Given the description of an element on the screen output the (x, y) to click on. 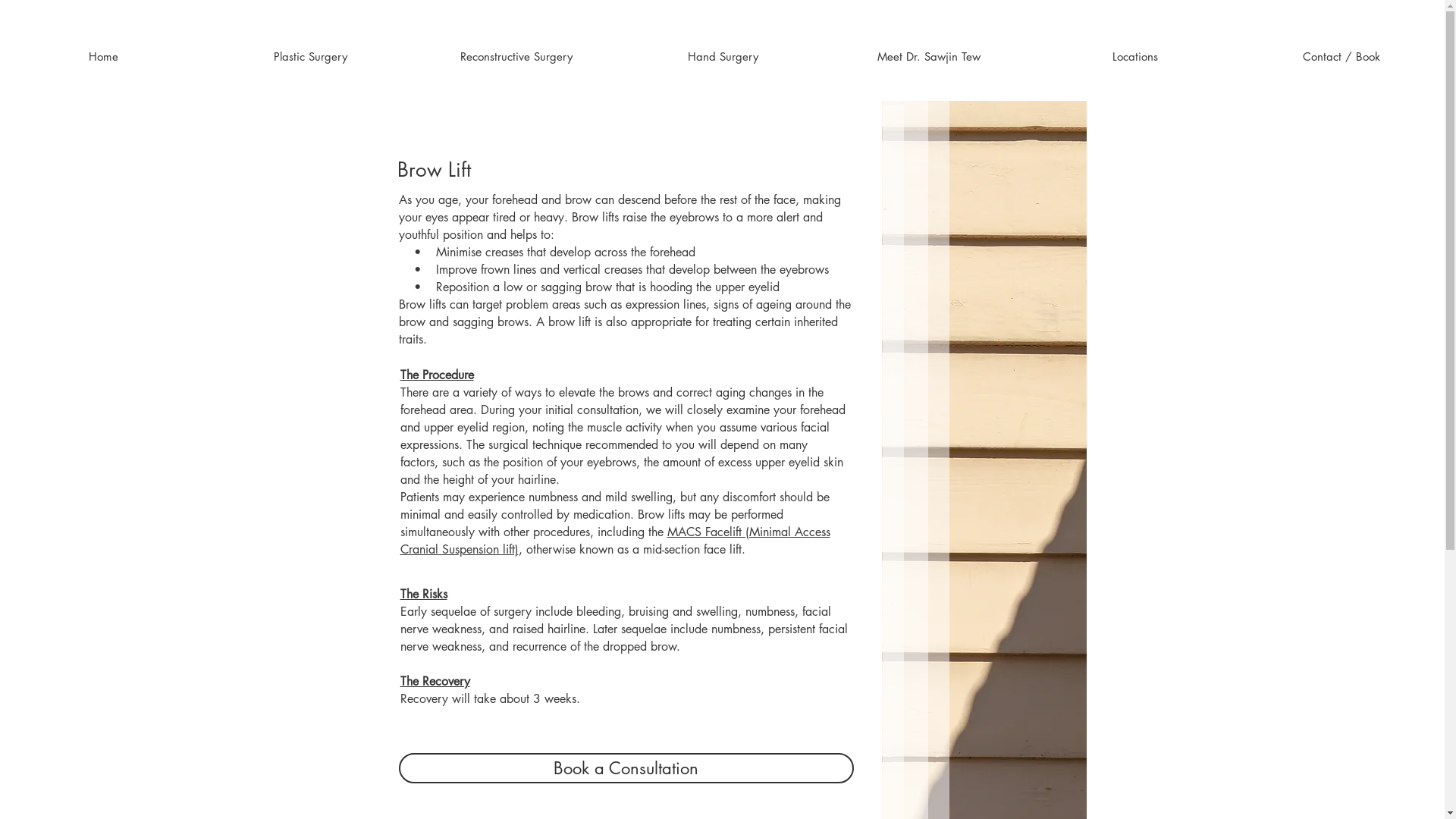
MACS Facelift (Minimal Access Cranial Suspension lift) Element type: text (615, 540)
Home Element type: text (103, 56)
Locations Element type: text (1135, 56)
Contact / Book Element type: text (1341, 56)
Meet Dr. Sawjin Tew Element type: text (928, 56)
Book a Consultation Element type: text (625, 768)
